Given the description of an element on the screen output the (x, y) to click on. 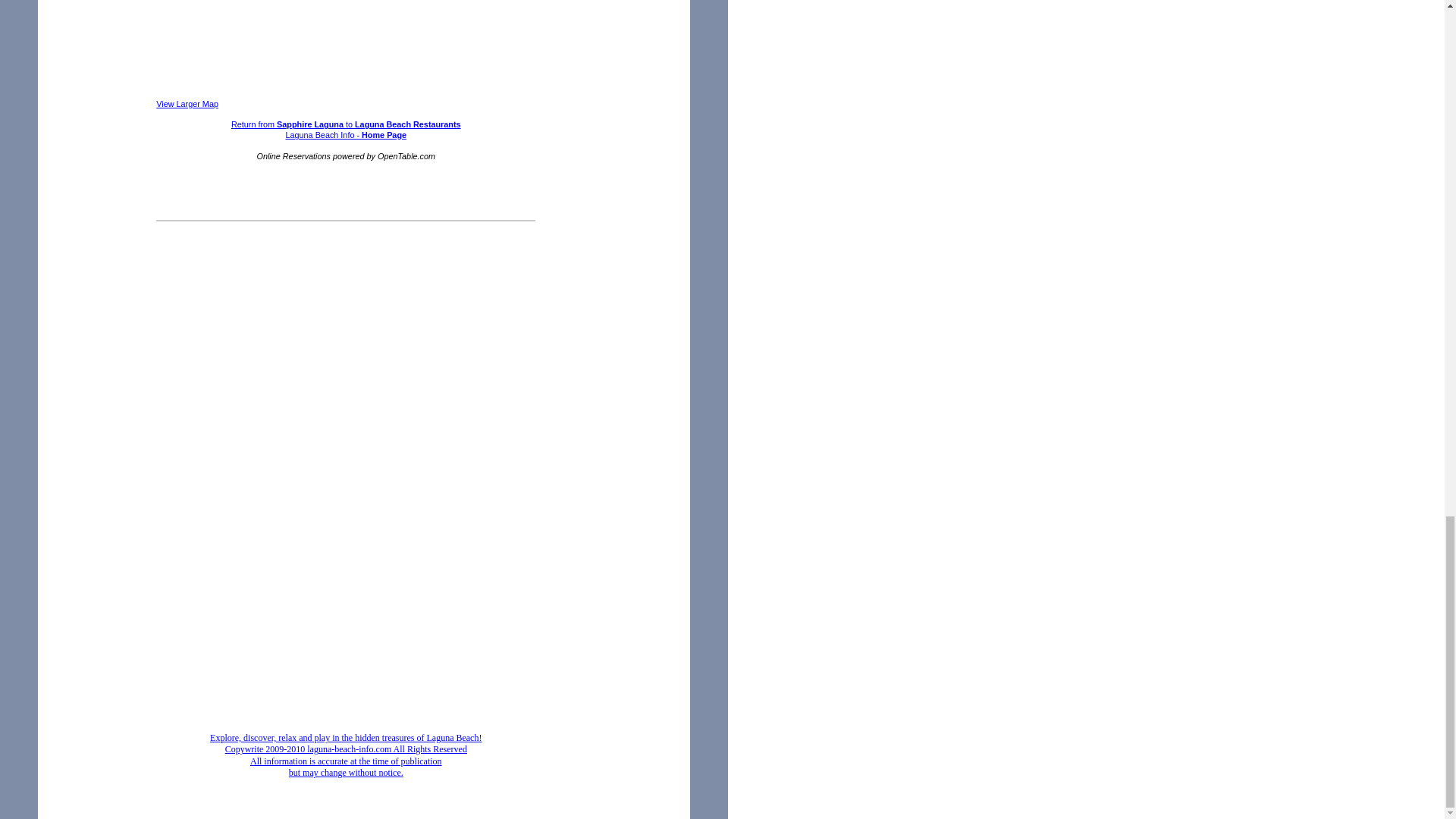
Insider's Guide to Laguna Beach (345, 755)
Laguna Beach Info - Home Page (345, 134)
Return from Sapphire Laguna to Laguna Beach Restaurants (346, 123)
View Larger Map (186, 103)
Return from Sapphire Laguna to Laguna Beach Restaurants (346, 123)
Laguna Beach Info - Home Page (345, 134)
